Given the description of an element on the screen output the (x, y) to click on. 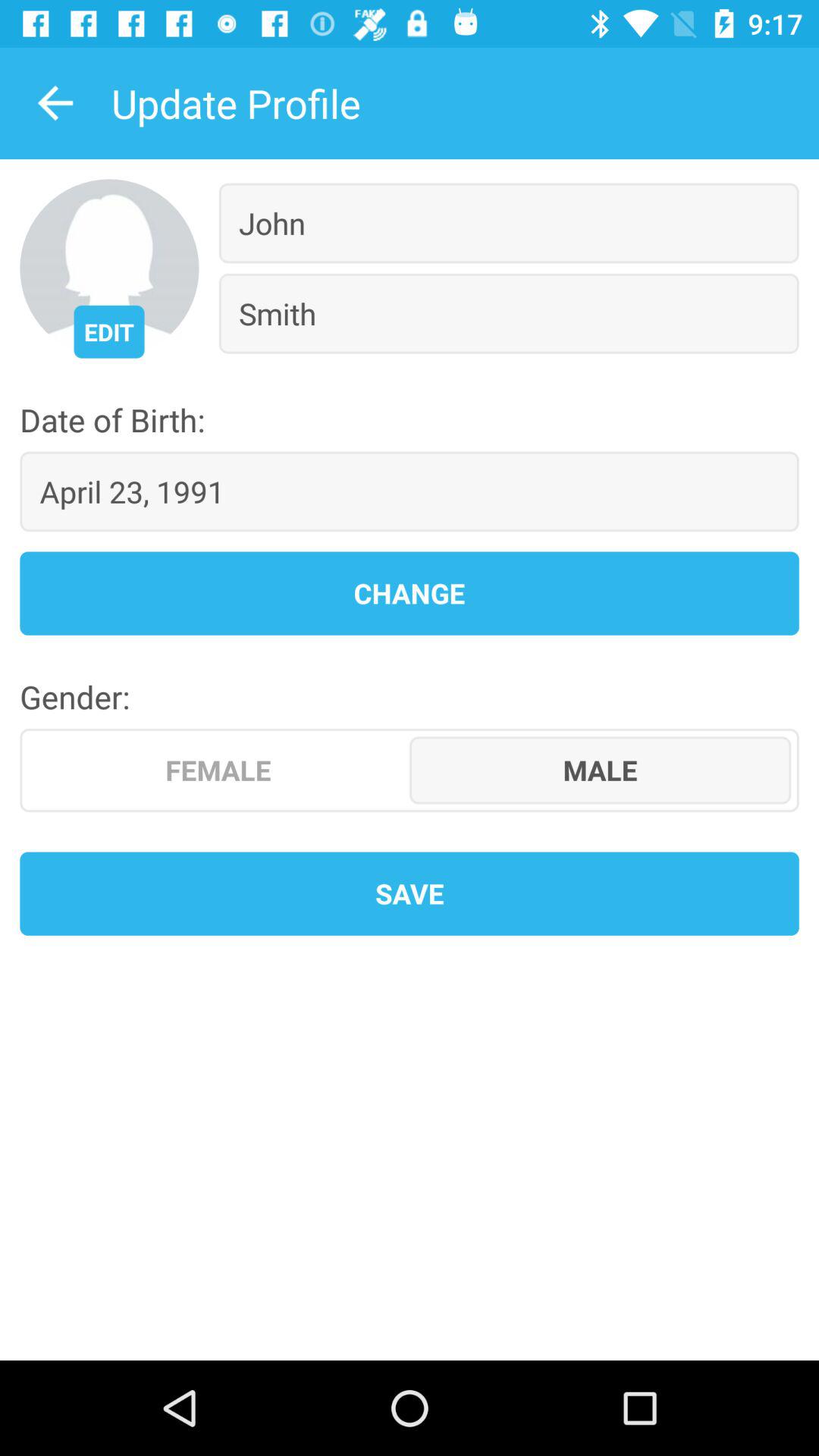
turn on john icon (508, 223)
